Given the description of an element on the screen output the (x, y) to click on. 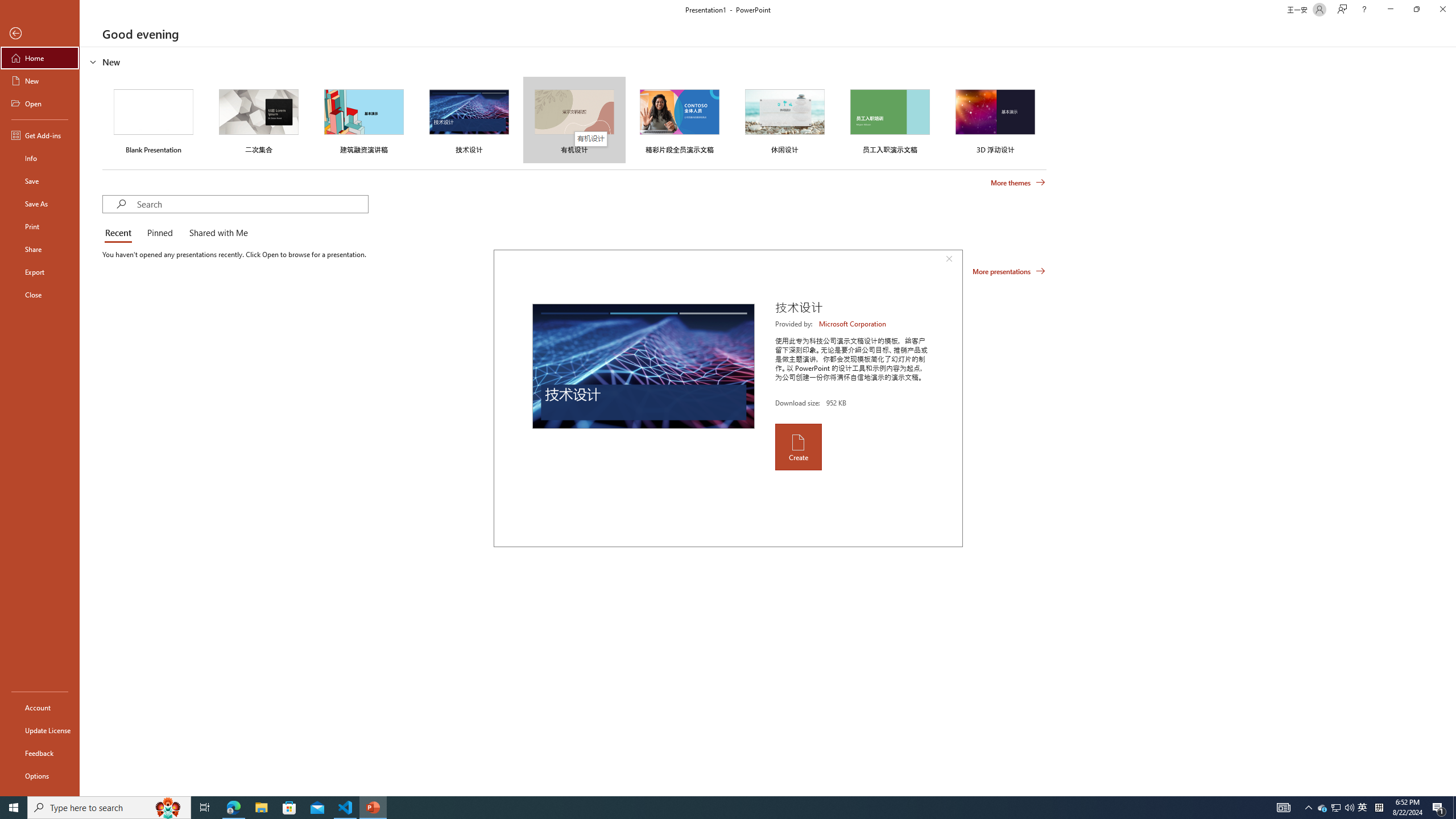
Hide or show region (92, 61)
Info (40, 157)
More presentations (1008, 270)
Class: NetUIScrollBar (1450, 421)
Export (40, 271)
Recent (119, 233)
Get Add-ins (40, 134)
New (40, 80)
